Given the description of an element on the screen output the (x, y) to click on. 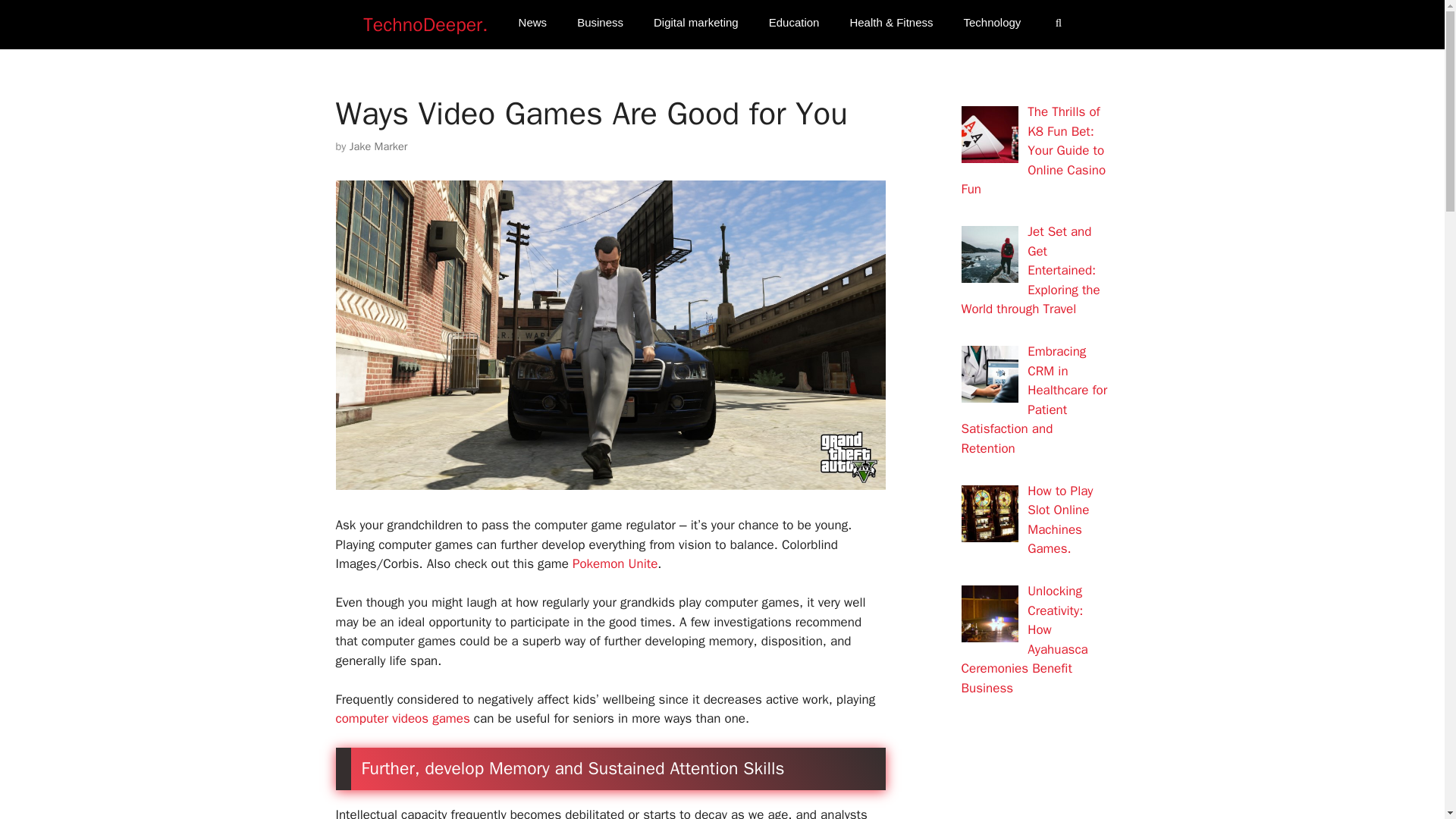
Digital marketing (696, 22)
TechnoDeeper. (424, 24)
Pokemon Unite (615, 563)
The Thrills of K8 Fun Bet: Your Guide to Online Casino Fun (1033, 150)
Education (794, 22)
computer videos games (401, 718)
Business (600, 22)
Jake Marker (378, 146)
Technology (991, 22)
News (532, 22)
View all posts by Jake Marker (378, 146)
